Given the description of an element on the screen output the (x, y) to click on. 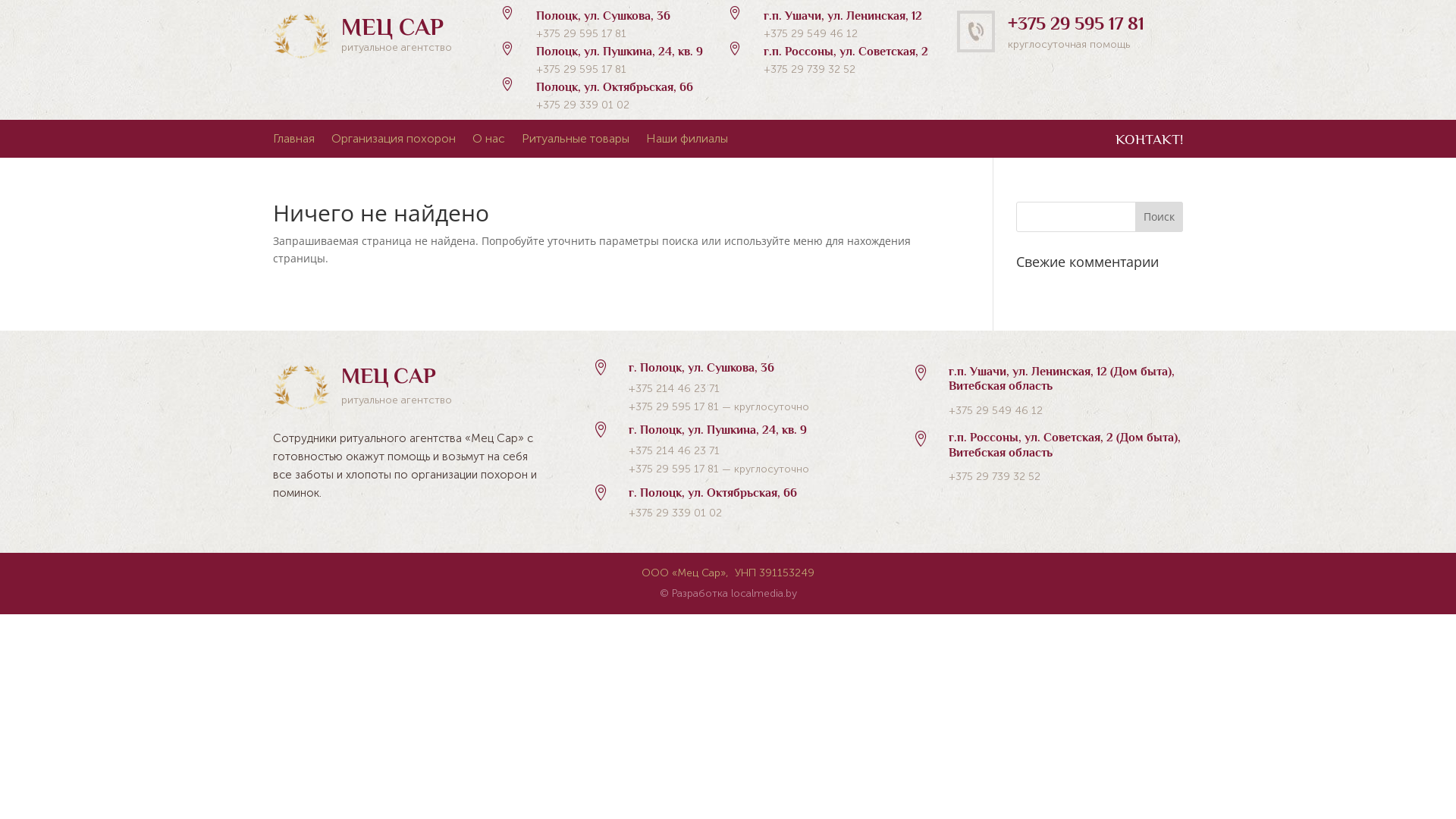
+375 29 595 17 81 Element type: text (673, 468)
+375 29 595 17 81 Element type: text (581, 33)
+375 29 739 32 52 Element type: text (809, 68)
+375 214 46 23 71 Element type: text (673, 450)
+375 29 549 46 12 Element type: text (810, 33)
+375 29 549 46 12 Element type: text (995, 410)
+375 29 339 01 02 Element type: text (674, 512)
+375 29 595 17 81 Element type: text (673, 406)
+375 29 595 17 81 Element type: text (581, 68)
+375 214 46 23 71 Element type: text (673, 388)
+375 29 739 32 52 Element type: text (994, 476)
+375 29 339 01 02 Element type: text (582, 104)
